Given the description of an element on the screen output the (x, y) to click on. 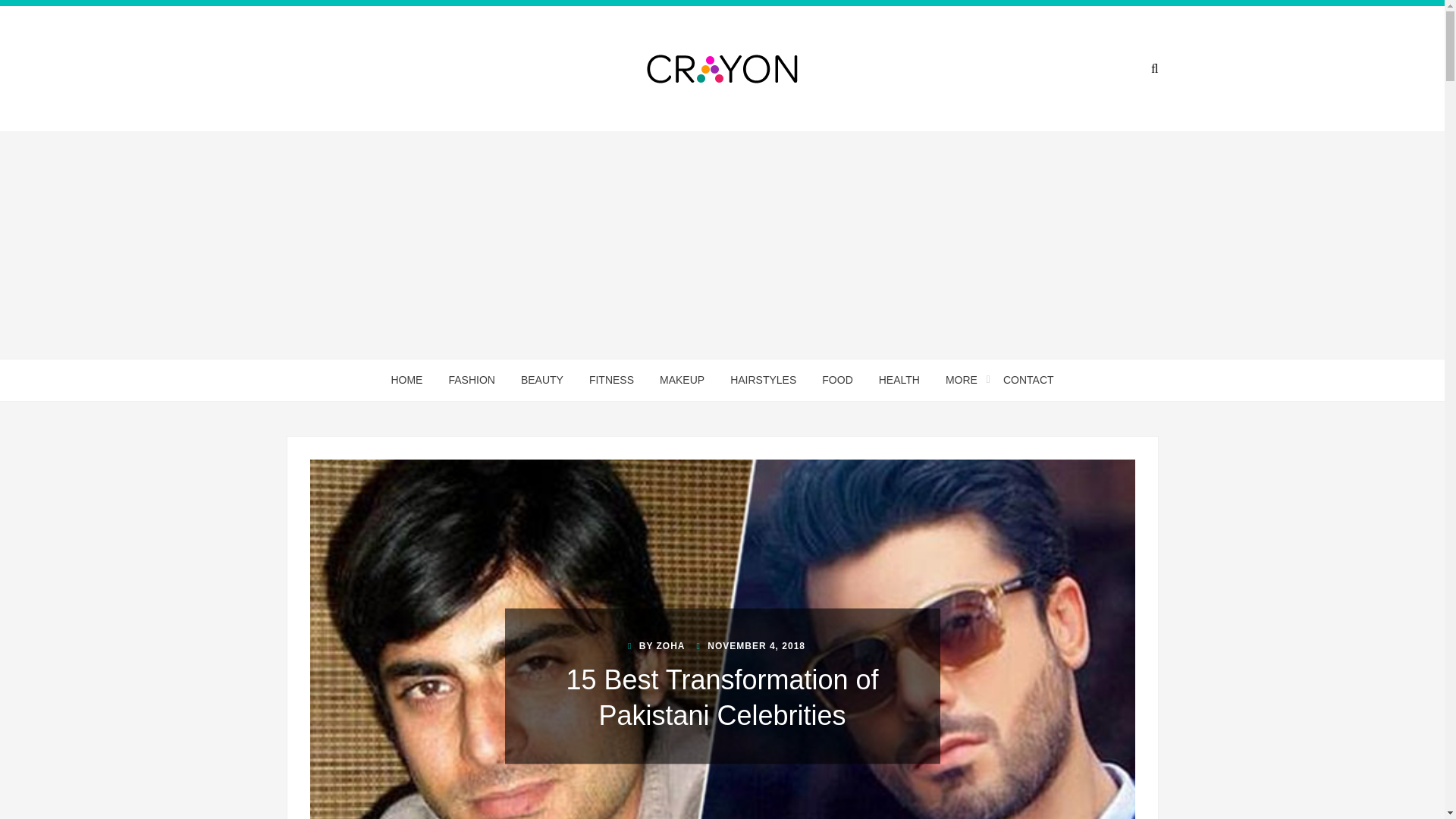
HOME (406, 380)
Crayon (550, 100)
NOVEMBER 4, 2018 (751, 646)
Crayon (550, 100)
BEAUTY (542, 380)
CONTACT (1028, 380)
MORE (961, 380)
HAIRSTYLES (763, 380)
FITNESS (611, 380)
ZOHA (670, 646)
FASHION (470, 380)
FOOD (836, 380)
MAKEUP (681, 380)
